Given the description of an element on the screen output the (x, y) to click on. 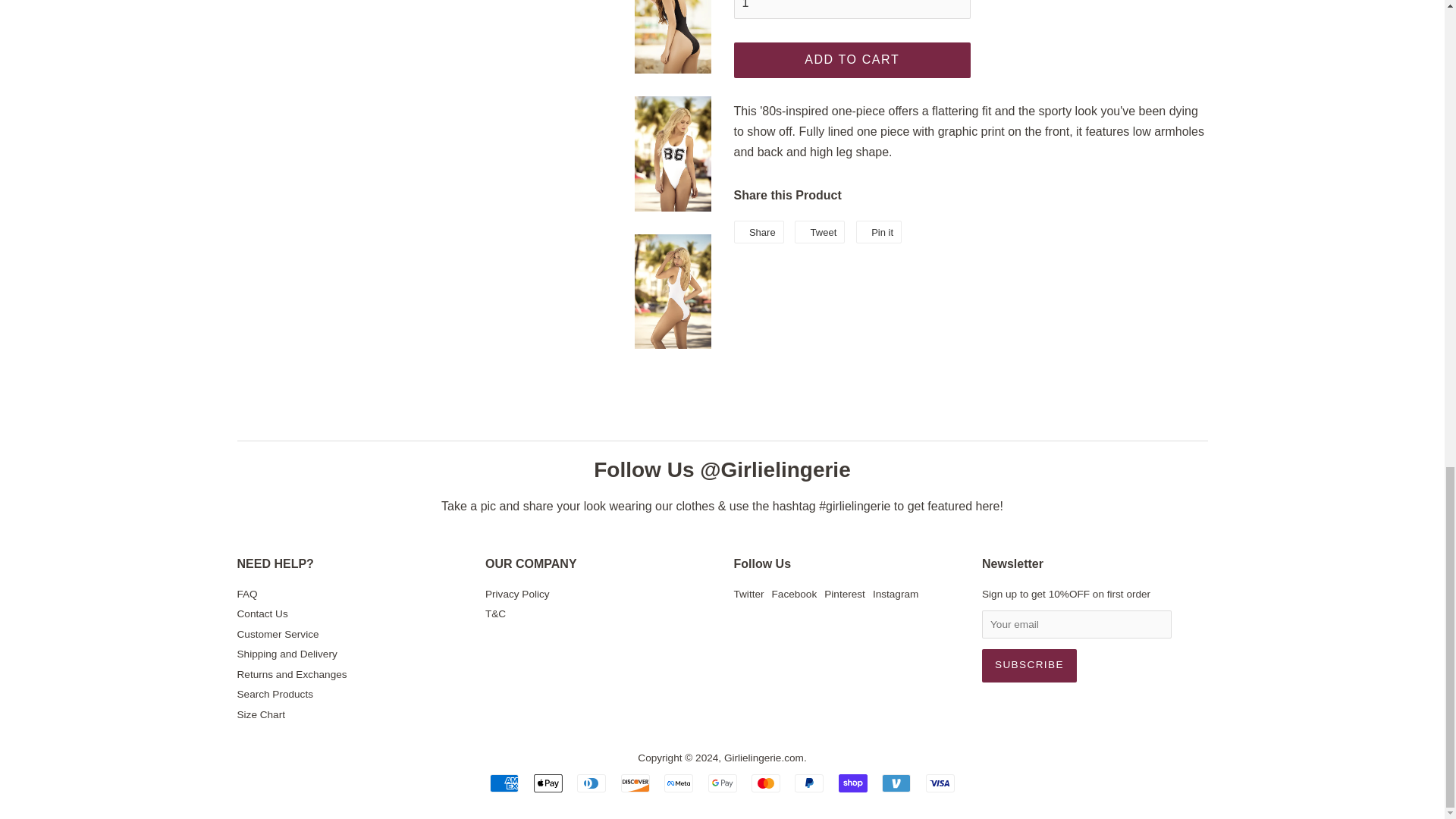
American Express (503, 782)
Google Pay (721, 782)
Subscribe (1029, 665)
Mastercard (765, 782)
Shop Pay (852, 782)
Apple Pay (548, 782)
Girlielingerie.com on Facebook (793, 593)
PayPal (809, 782)
Girlielingerie.com on Instagram (895, 593)
Meta Pay (678, 782)
